Given the description of an element on the screen output the (x, y) to click on. 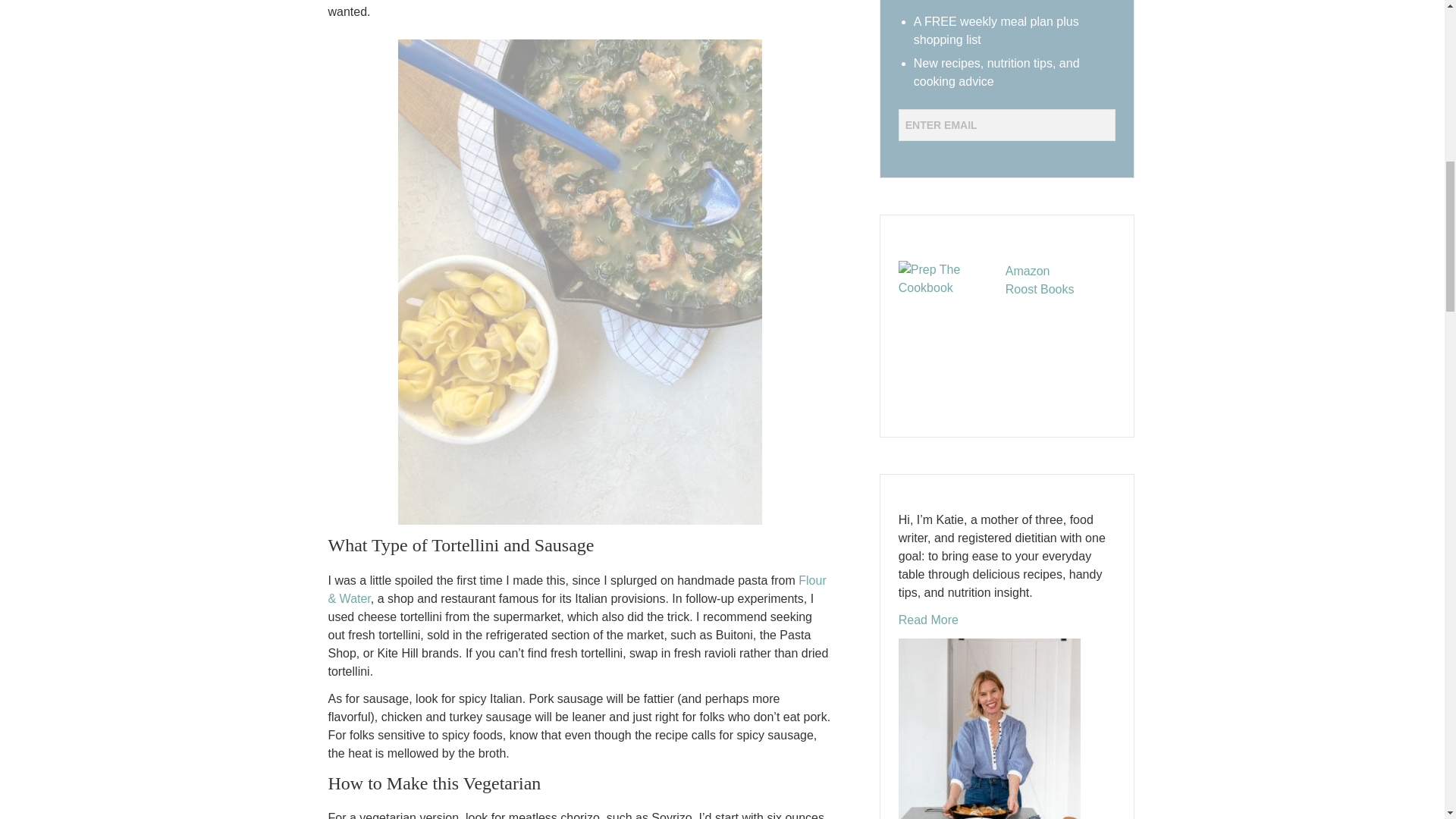
Subscribe (945, 155)
Subscribe (945, 155)
